Given the description of an element on the screen output the (x, y) to click on. 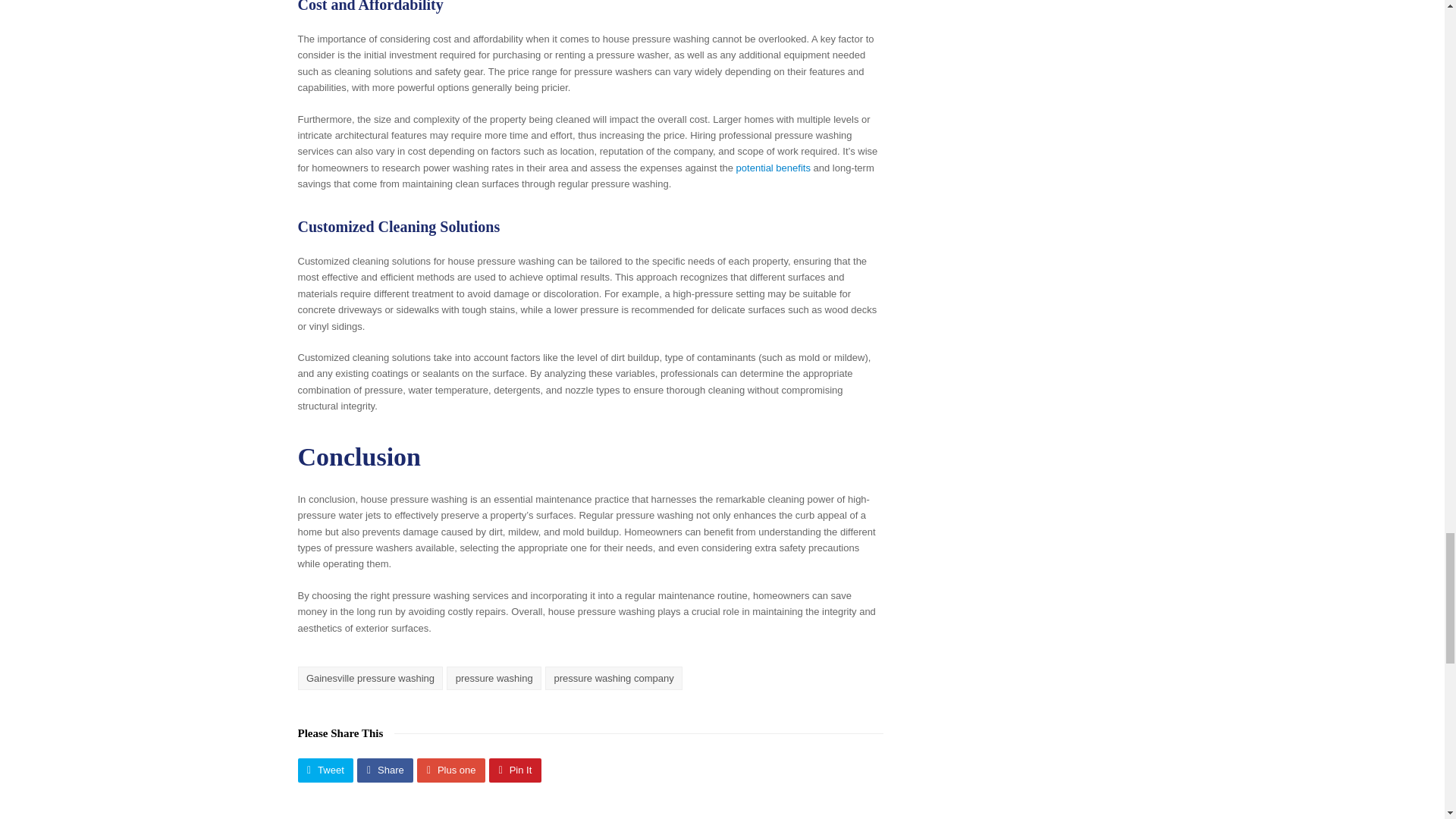
Share on Pinterest (515, 770)
Share on Twitter (325, 770)
Share on Facebook (384, 770)
